Given the description of an element on the screen output the (x, y) to click on. 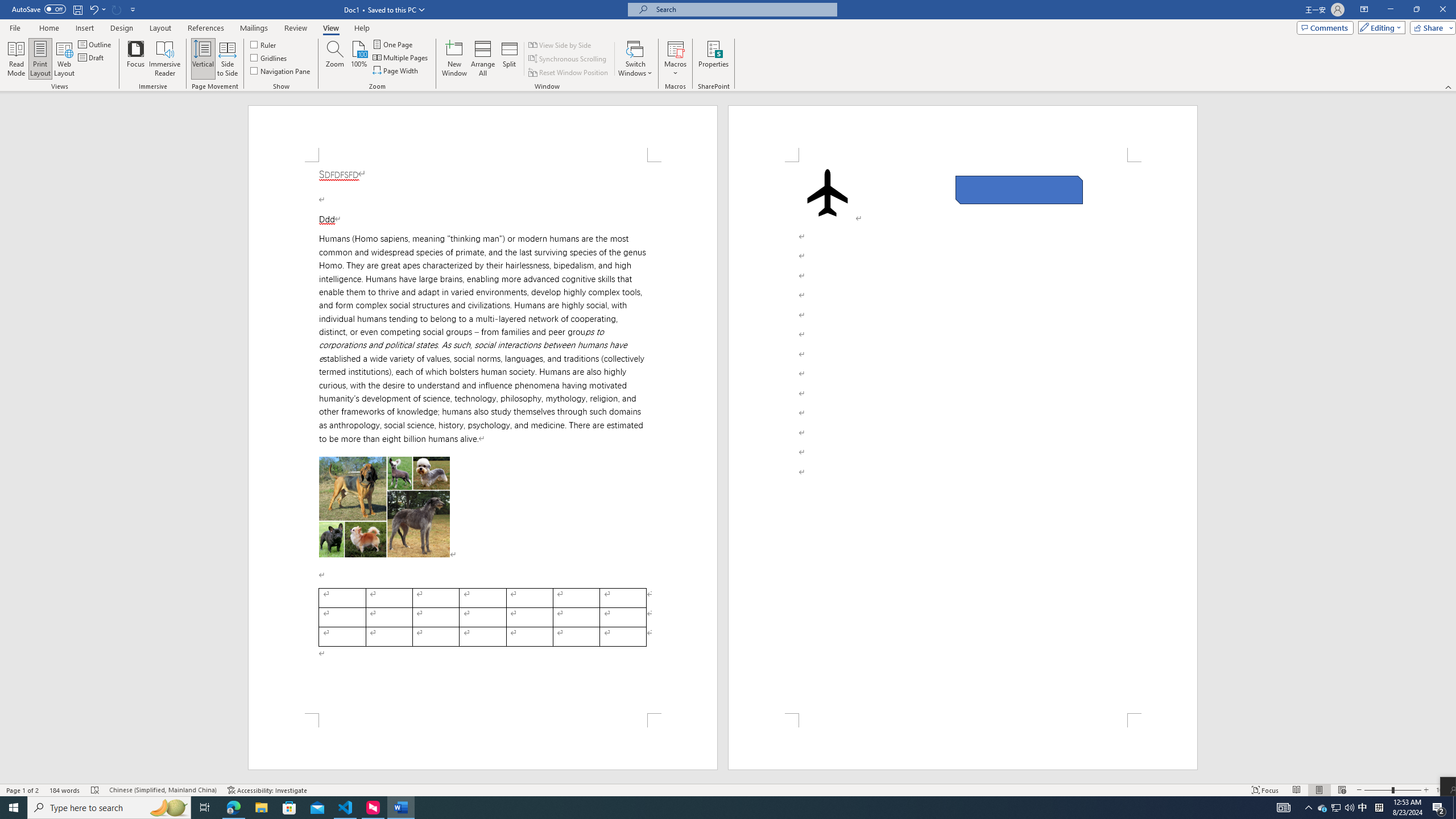
System (6, 6)
Ruler (263, 44)
References (205, 28)
Arrange All (483, 58)
System (6, 6)
Immersive Reader (165, 58)
Editing (1379, 27)
Class: MsoCommandBar (728, 45)
Word Count 184 words (64, 790)
Rectangle: Diagonal Corners Snipped 2 (1019, 189)
Vertical (202, 58)
Outline (95, 44)
Zoom (1392, 790)
Insert (83, 28)
